Given the description of an element on the screen output the (x, y) to click on. 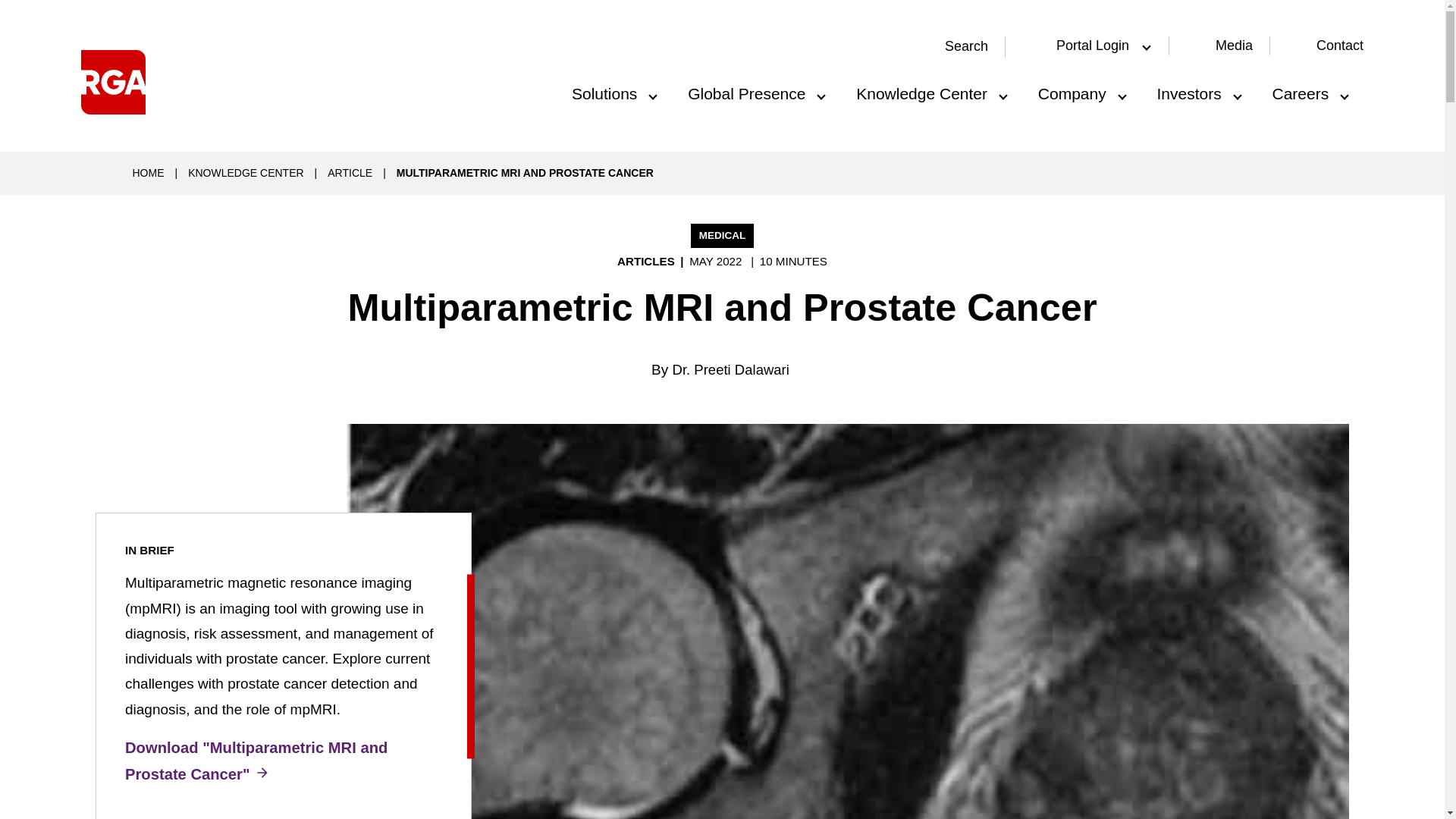
Knowledge Center (931, 89)
Portal Login (1088, 46)
Global Presence (755, 89)
Company (1081, 89)
Solutions (613, 89)
Contact (1339, 45)
Media (1233, 45)
Search (957, 47)
